Given the description of an element on the screen output the (x, y) to click on. 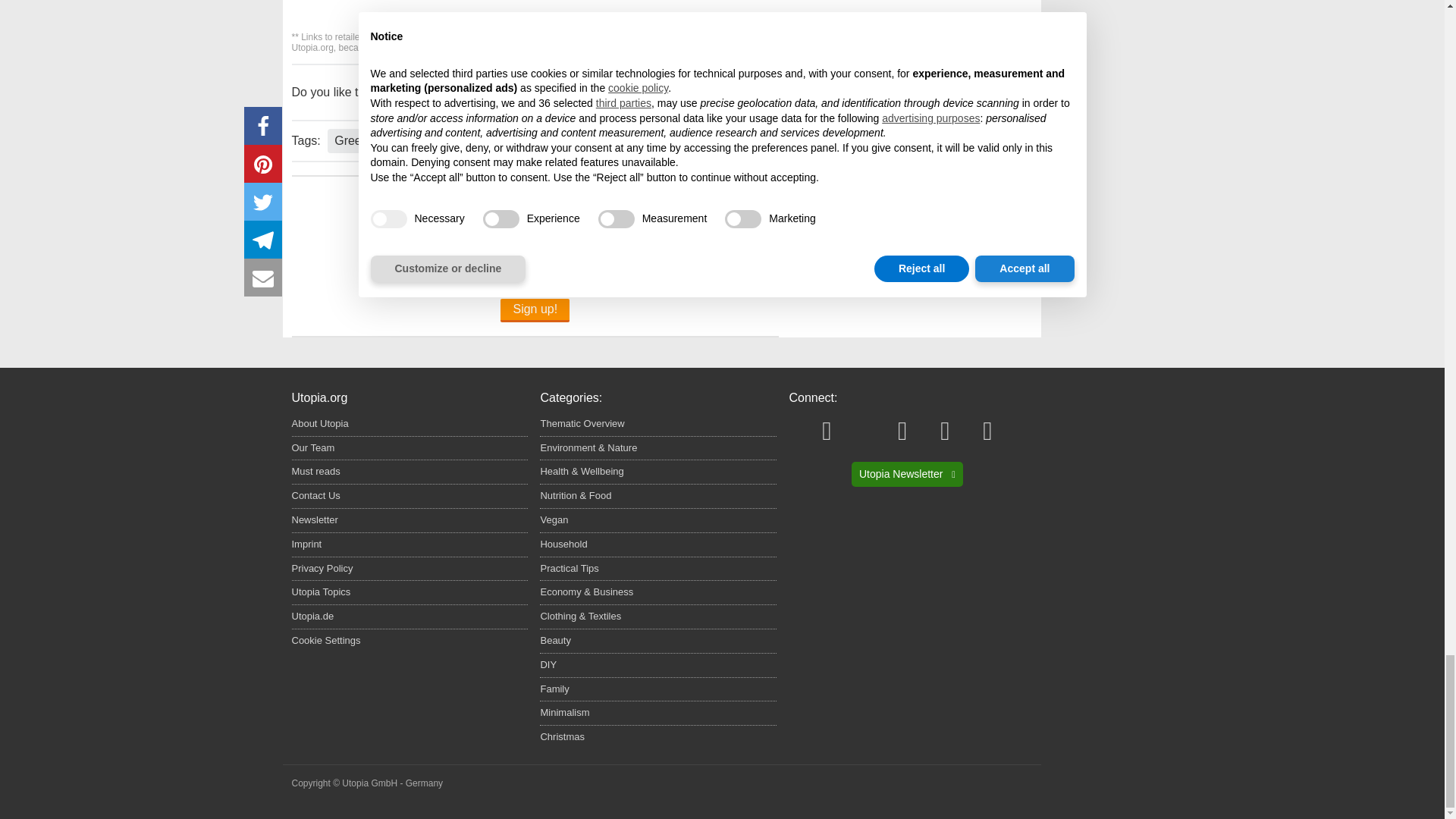
Sign up! (534, 310)
6f3f040e4e (405, 270)
